Given the description of an element on the screen output the (x, y) to click on. 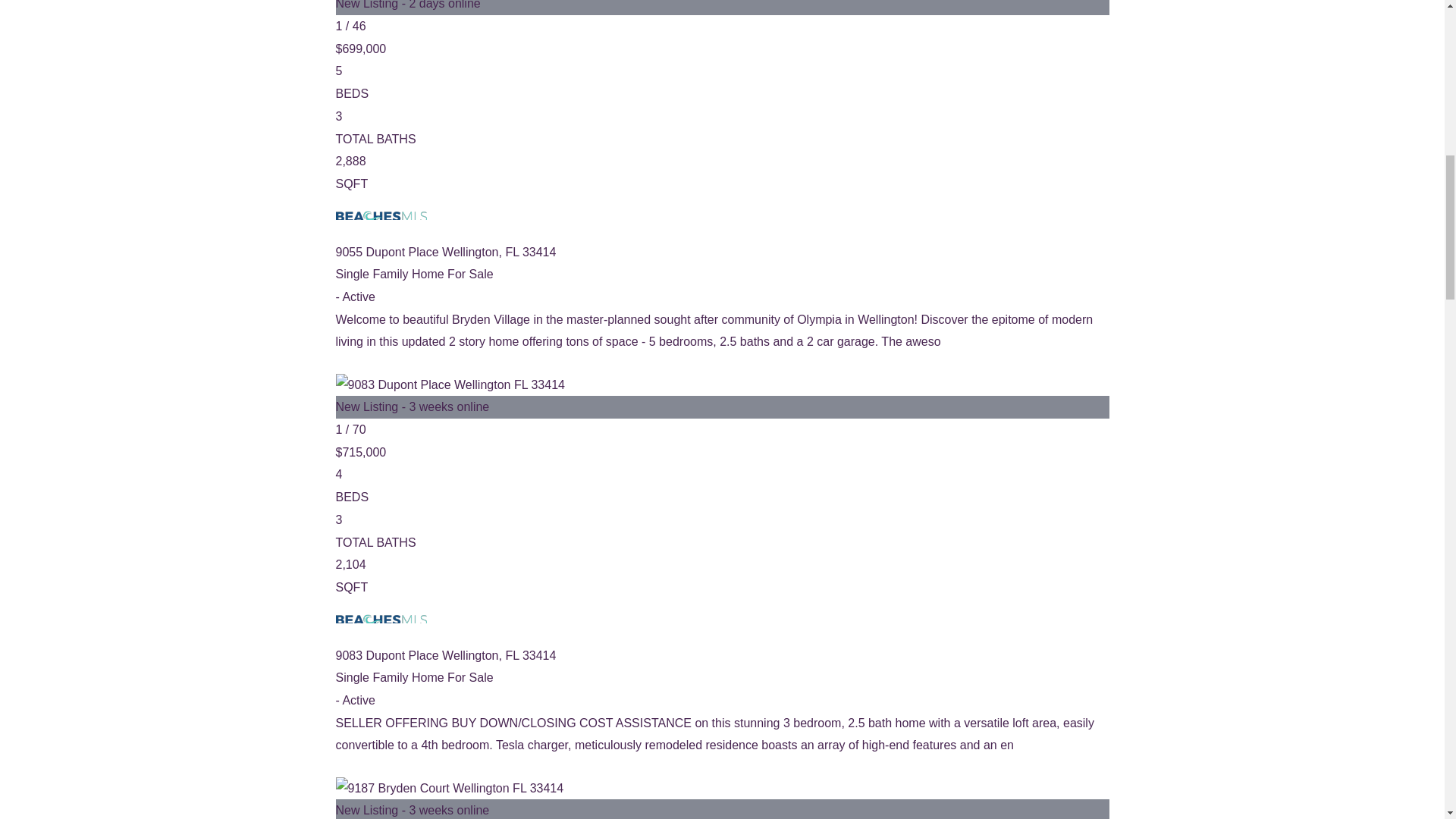
9187 Bryden Court (721, 797)
Bryden Village at Olympia Homes for Sale (380, 621)
Bryden Village at Olympia Homes for Sale (380, 217)
Bryden Village at Olympia Homes for Sale (449, 384)
